Given the description of an element on the screen output the (x, y) to click on. 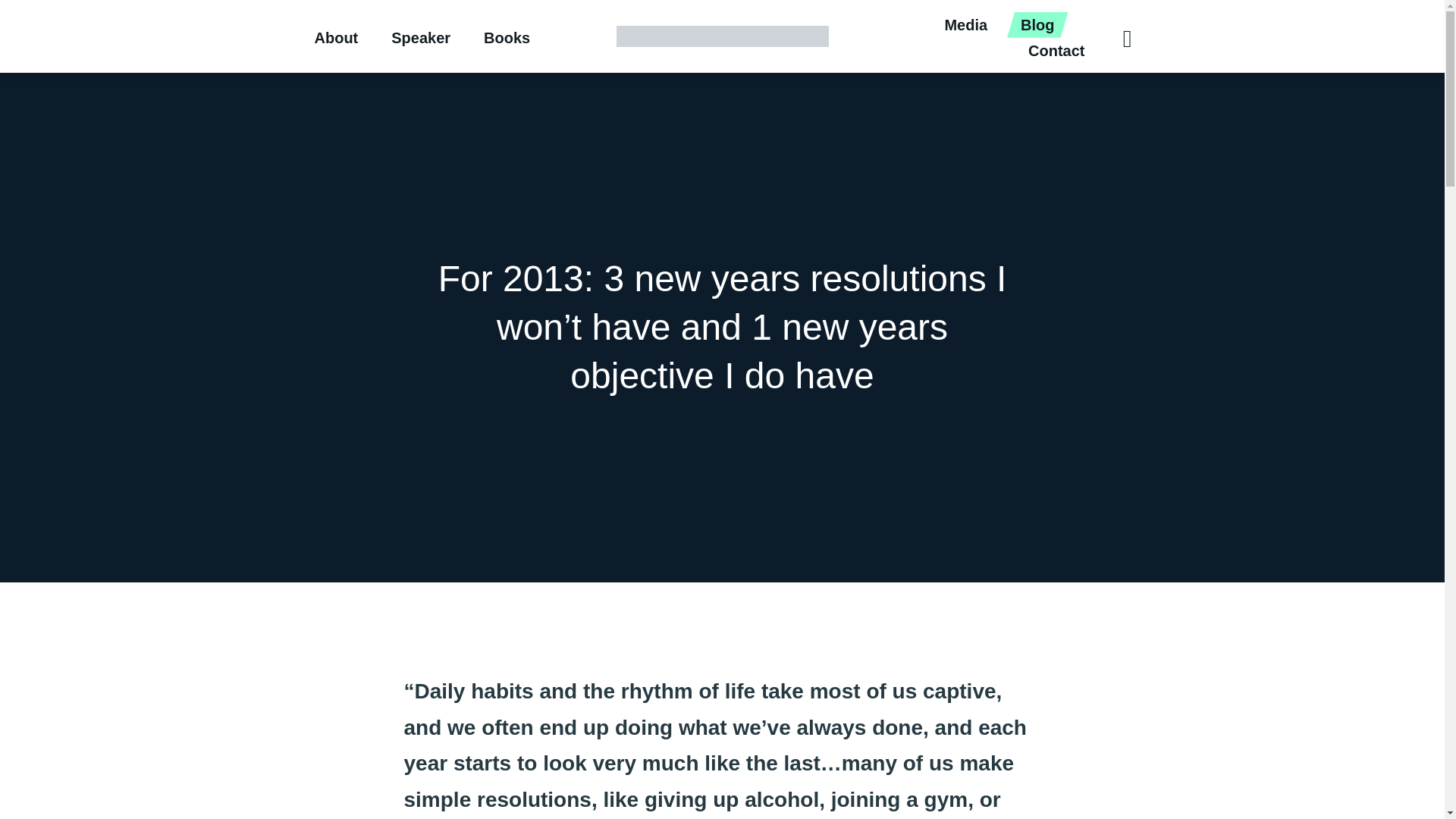
About (336, 37)
Dr Anne-Marie Imafidon MBE (721, 36)
Blog (1037, 24)
Books (506, 37)
Media (965, 24)
Dr Anne-Marie Imafidon MBE (721, 35)
Show Search (1115, 36)
Contact (1056, 50)
Speaker (420, 37)
